Given the description of an element on the screen output the (x, y) to click on. 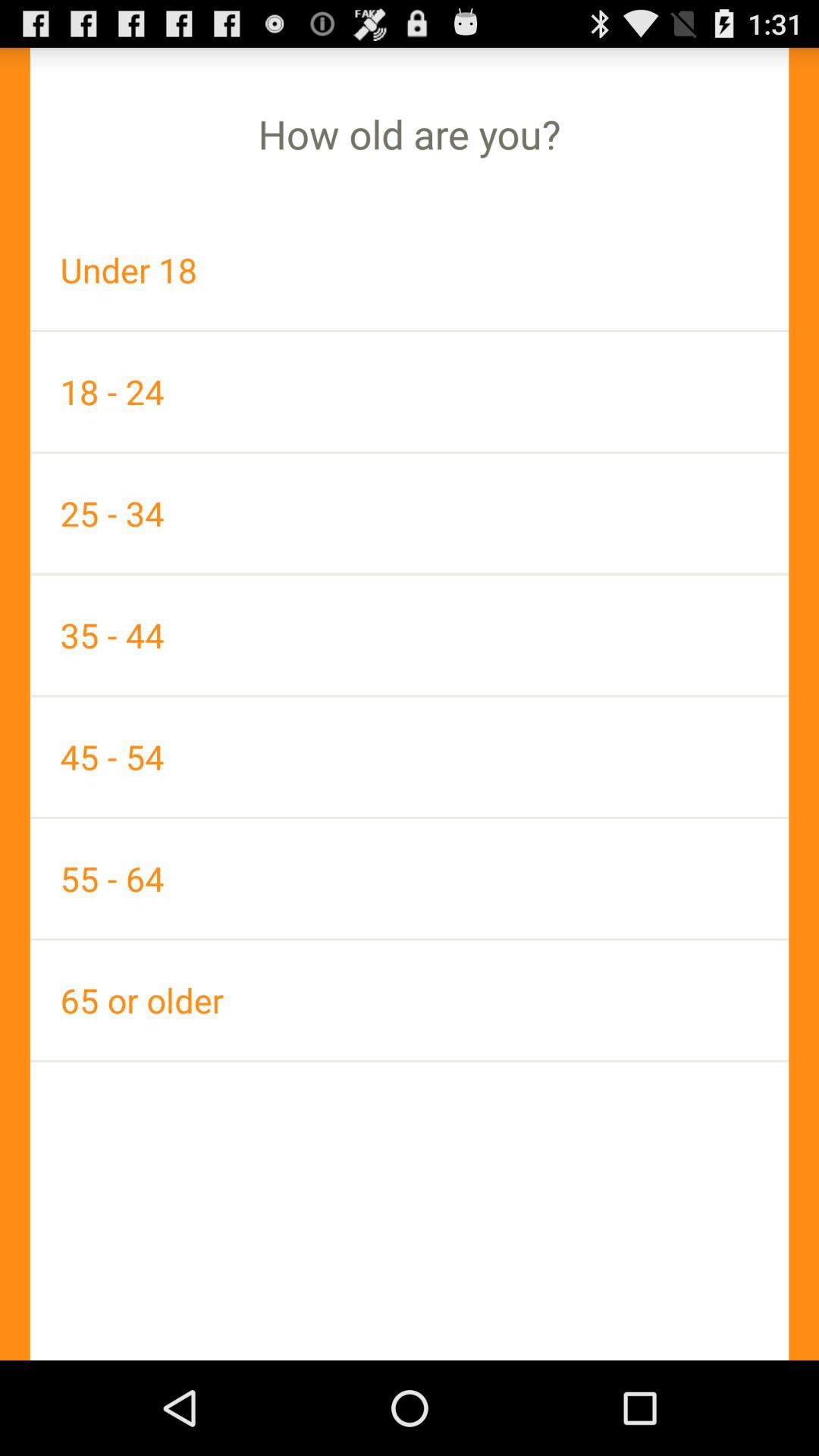
choose icon below 35 - 44 item (409, 756)
